Given the description of an element on the screen output the (x, y) to click on. 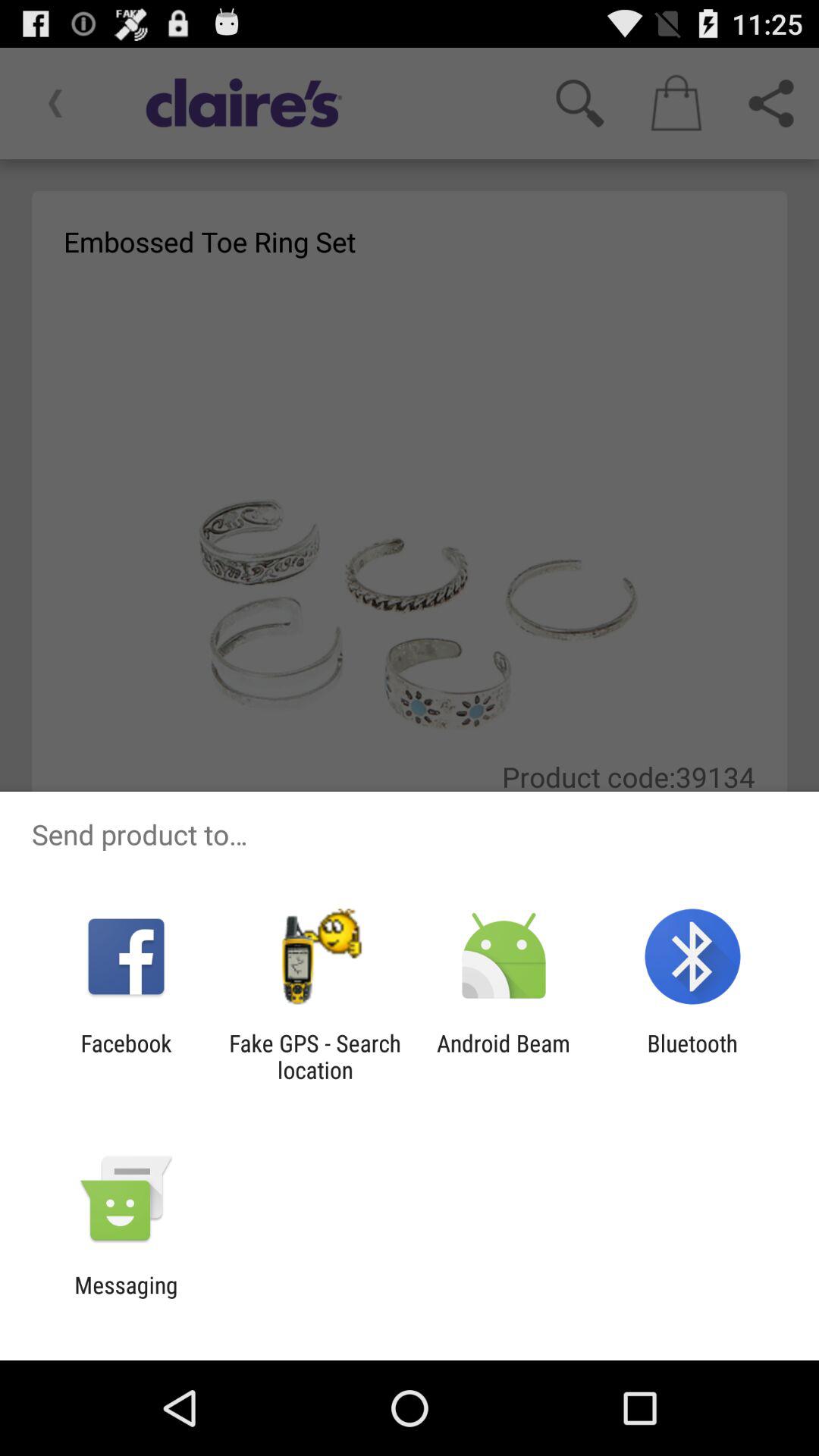
swipe to the bluetooth icon (692, 1056)
